Given the description of an element on the screen output the (x, y) to click on. 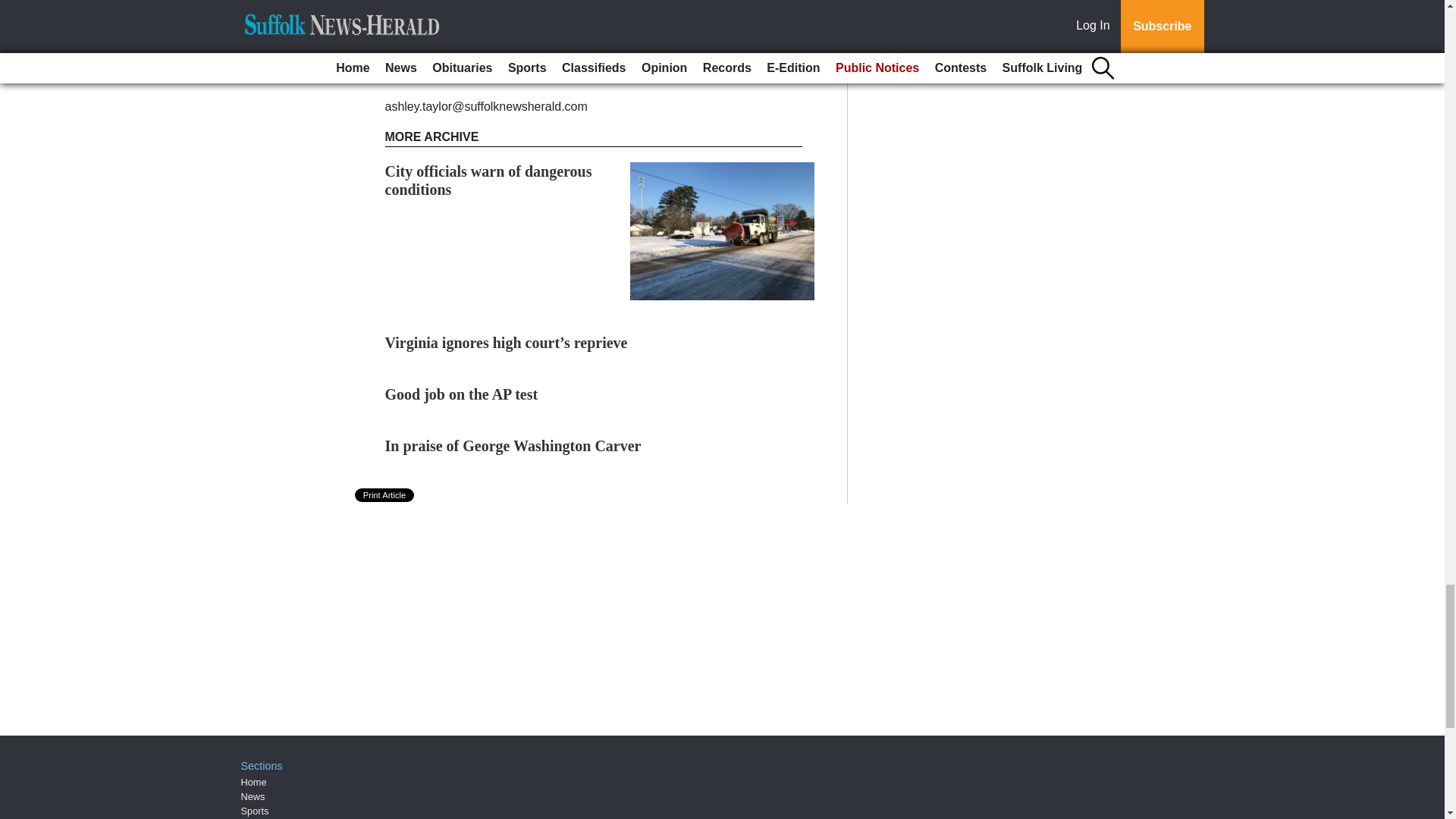
Good job on the AP test (461, 393)
In praise of George Washington Carver (513, 445)
Print Article (384, 495)
Home (253, 781)
Good job on the AP test (461, 393)
City officials warn of dangerous conditions (488, 180)
Sports (255, 810)
News (252, 796)
City officials warn of dangerous conditions (488, 180)
In praise of George Washington Carver (513, 445)
